Given the description of an element on the screen output the (x, y) to click on. 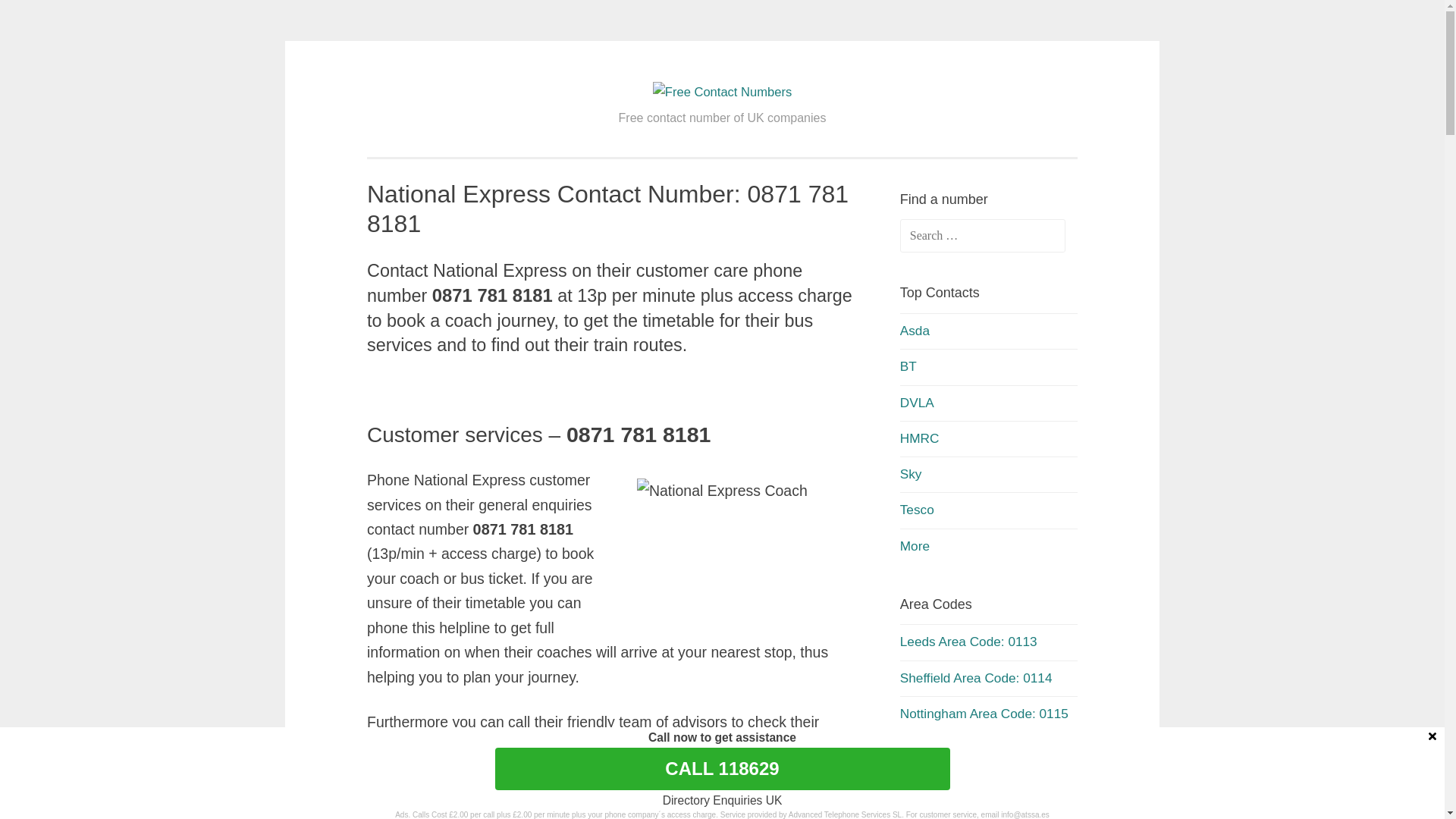
Leeds Area Code: 0113 Element type: text (968, 641)
Sheffield Area Code: 0114 Element type: text (976, 677)
Asda Element type: text (914, 330)
More Element type: text (914, 748)
Tesco Element type: text (917, 509)
More Element type: text (914, 545)
CALL 118629 Element type: text (721, 768)
Sky Element type: text (911, 473)
DVLA Element type: text (917, 402)
BT Element type: text (908, 365)
Search Element type: text (40, 16)
Nottingham Area Code: 0115 Element type: text (984, 713)
HMRC Element type: text (919, 437)
